Given the description of an element on the screen output the (x, y) to click on. 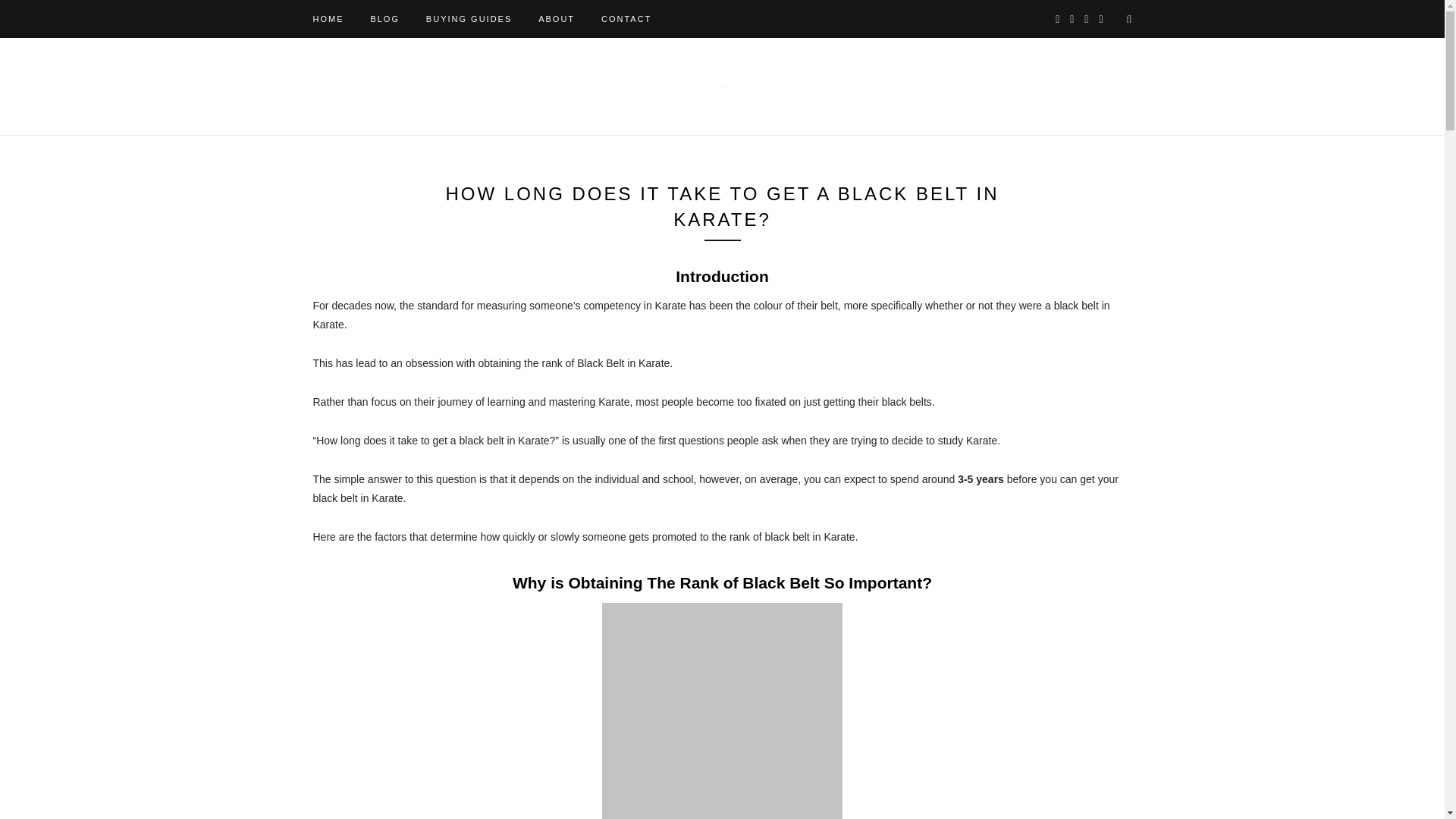
BUYING GUIDES (469, 18)
ABOUT (556, 18)
CONTACT (625, 18)
